Given the description of an element on the screen output the (x, y) to click on. 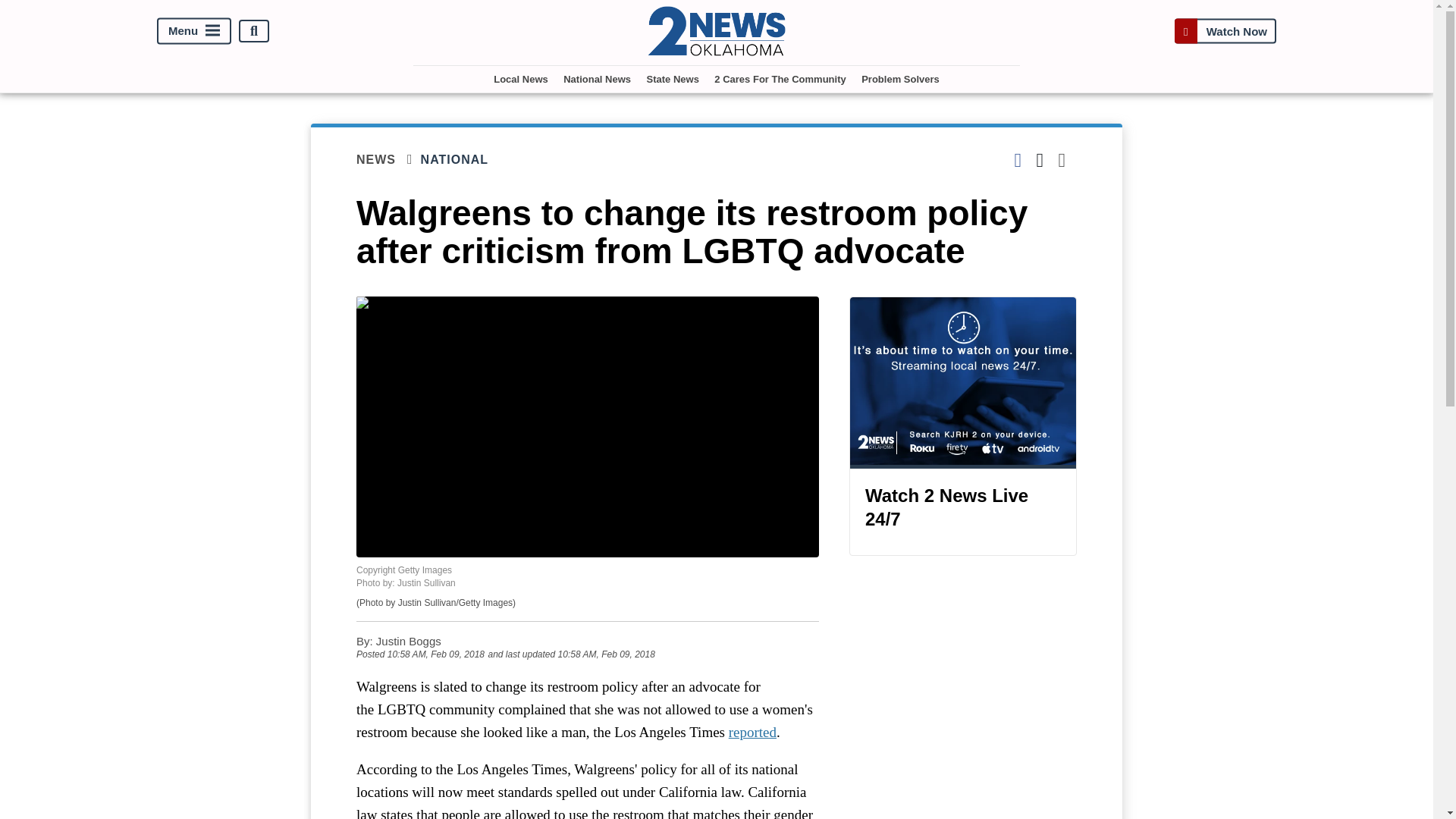
Watch Now (1224, 31)
Menu (194, 31)
